Given the description of an element on the screen output the (x, y) to click on. 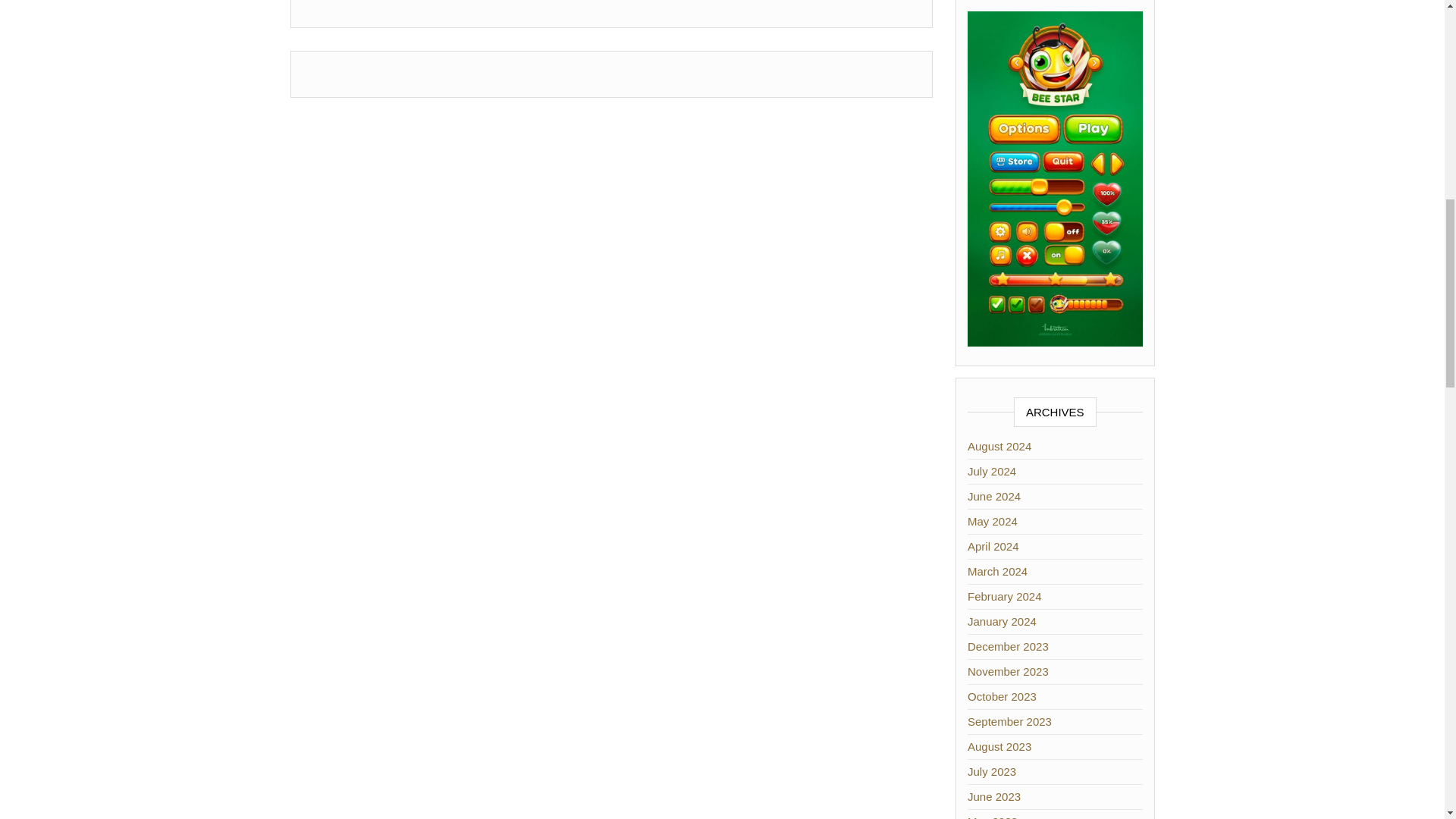
July 2024 (992, 471)
May 2023 (992, 816)
January 2024 (1002, 621)
February 2024 (1005, 595)
May 2024 (992, 521)
December 2023 (1008, 645)
November 2023 (1008, 671)
April 2024 (993, 545)
July 2023 (992, 771)
October 2023 (1002, 696)
